Given the description of an element on the screen output the (x, y) to click on. 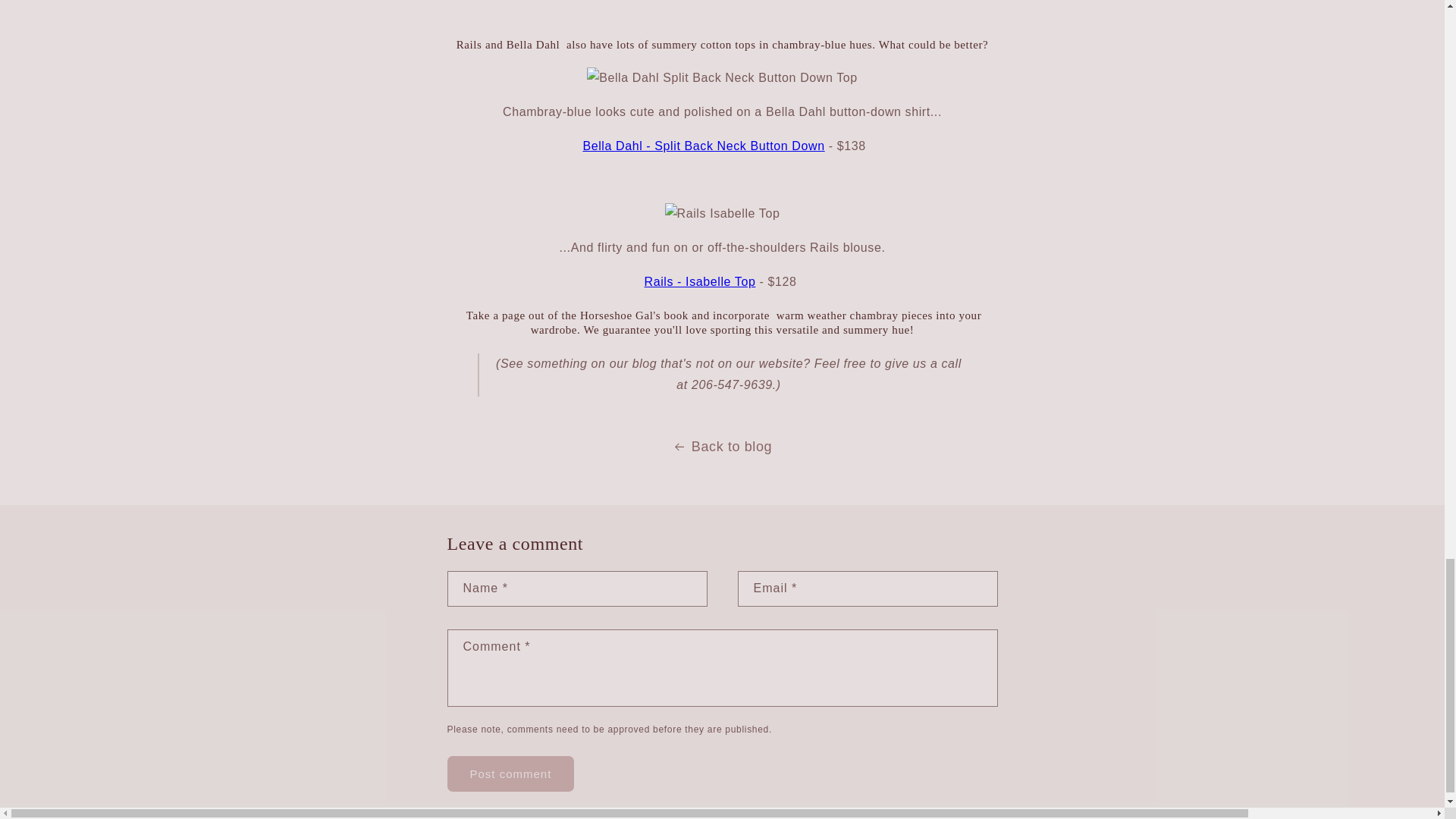
Post comment (510, 773)
Bella Dahl - Split Back Neck Button Down (703, 145)
Rails - Isabelle Top (700, 281)
